Given the description of an element on the screen output the (x, y) to click on. 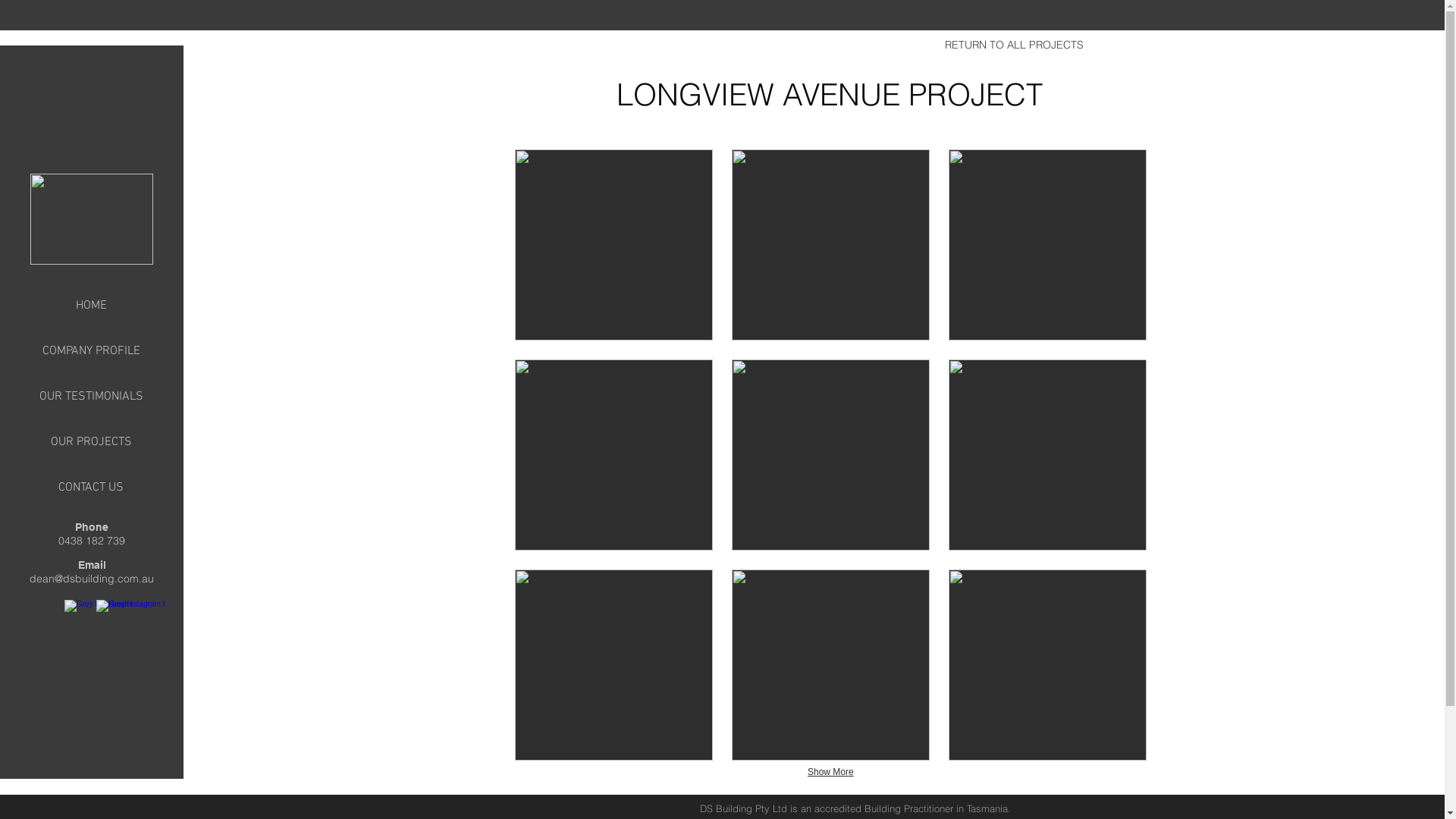
COMPANY PROFILE Element type: text (91, 350)
Dean_Scurrah_Building jpeg.png Element type: hover (91, 217)
OUR TESTIMONIALS Element type: text (91, 395)
RETURN TO ALL PROJECTS Element type: text (1013, 45)
Show More Element type: text (830, 772)
OUR PROJECTS Element type: text (91, 441)
CONTACT US Element type: text (91, 486)
HOME Element type: text (91, 304)
dean@dsbuilding.com.au Element type: text (91, 578)
